Given the description of an element on the screen output the (x, y) to click on. 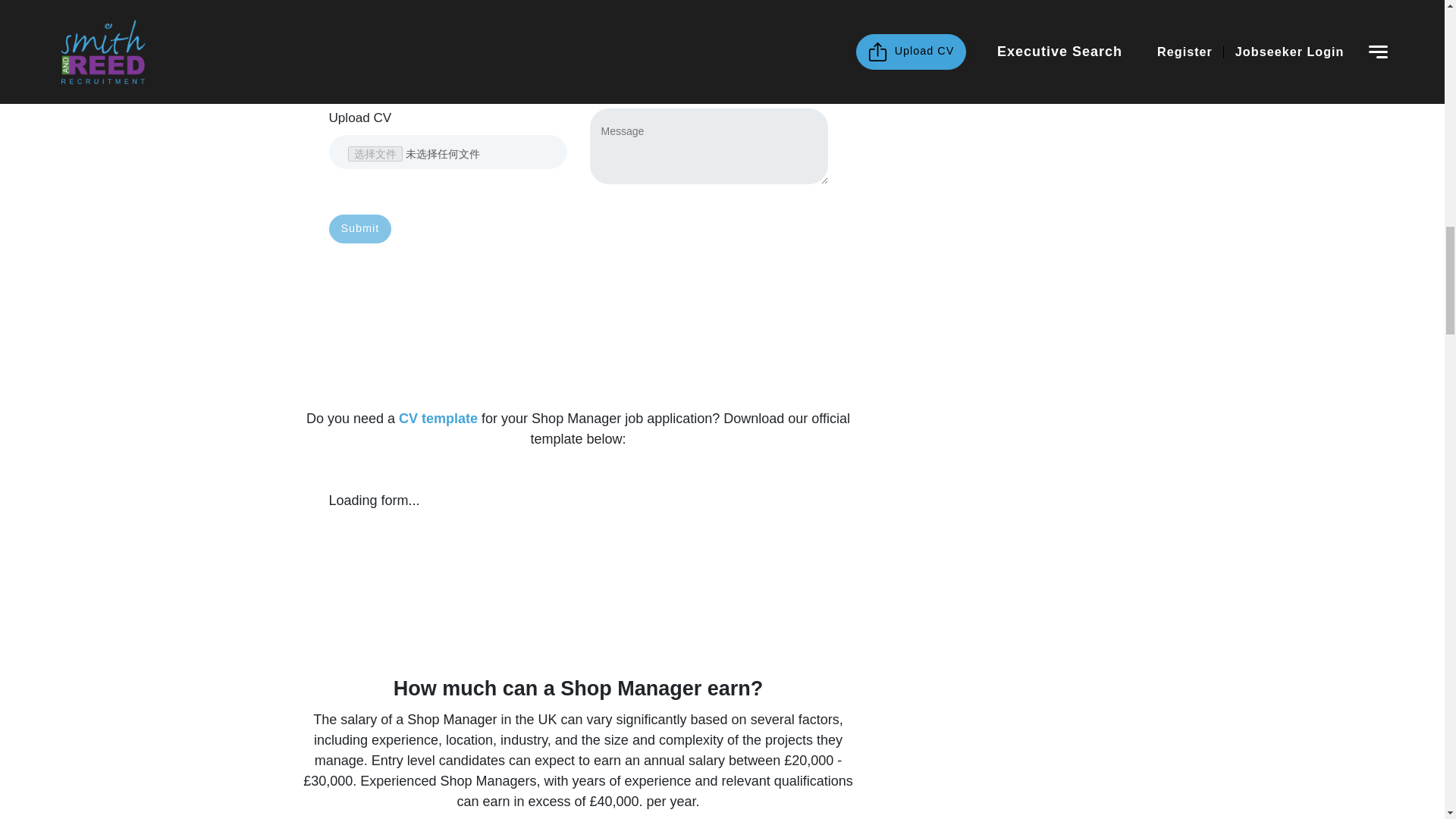
Submit (360, 228)
Submit (360, 228)
